Given the description of an element on the screen output the (x, y) to click on. 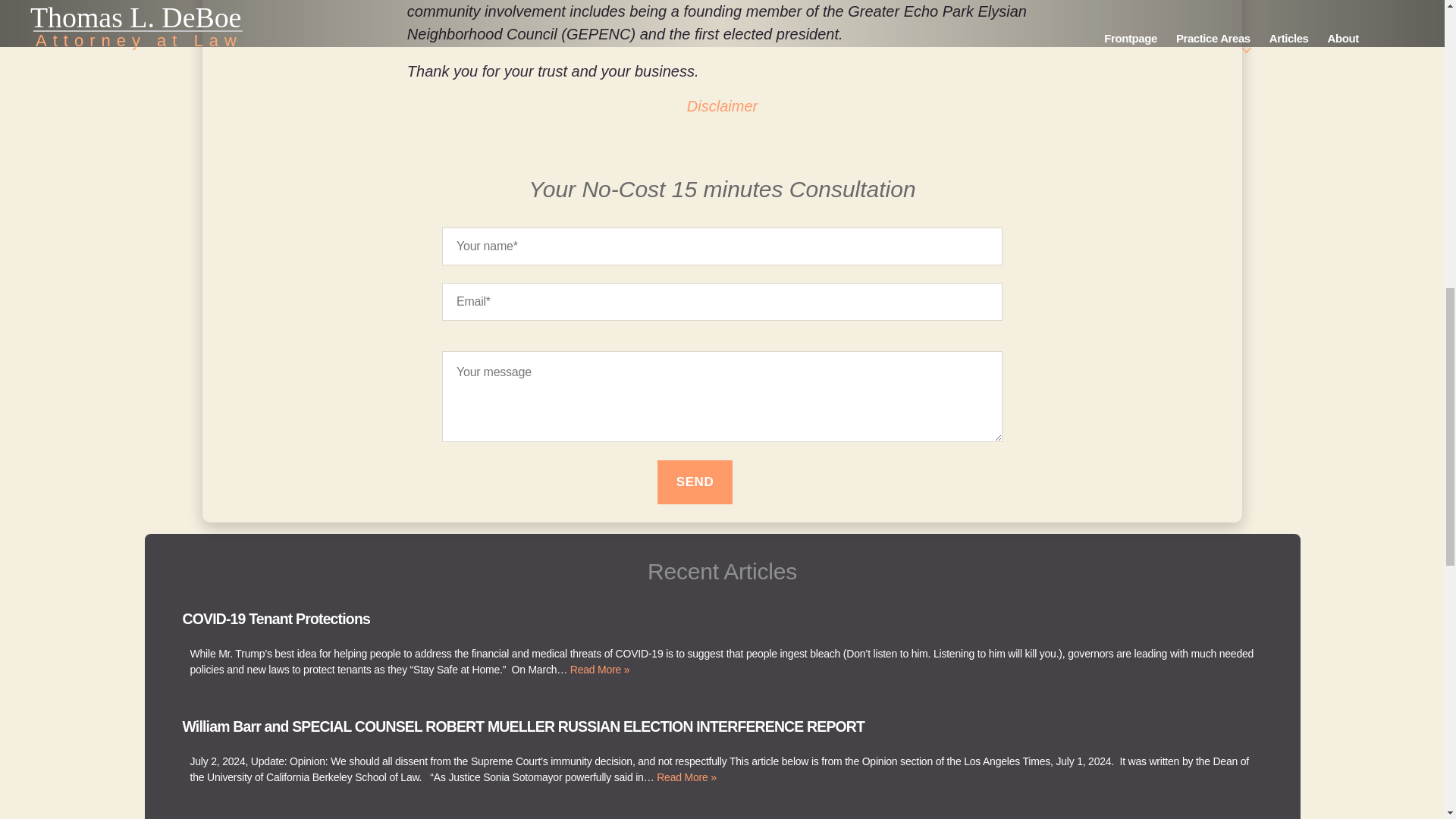
Send (695, 482)
Disclaimer (722, 105)
Send (695, 482)
